Given the description of an element on the screen output the (x, y) to click on. 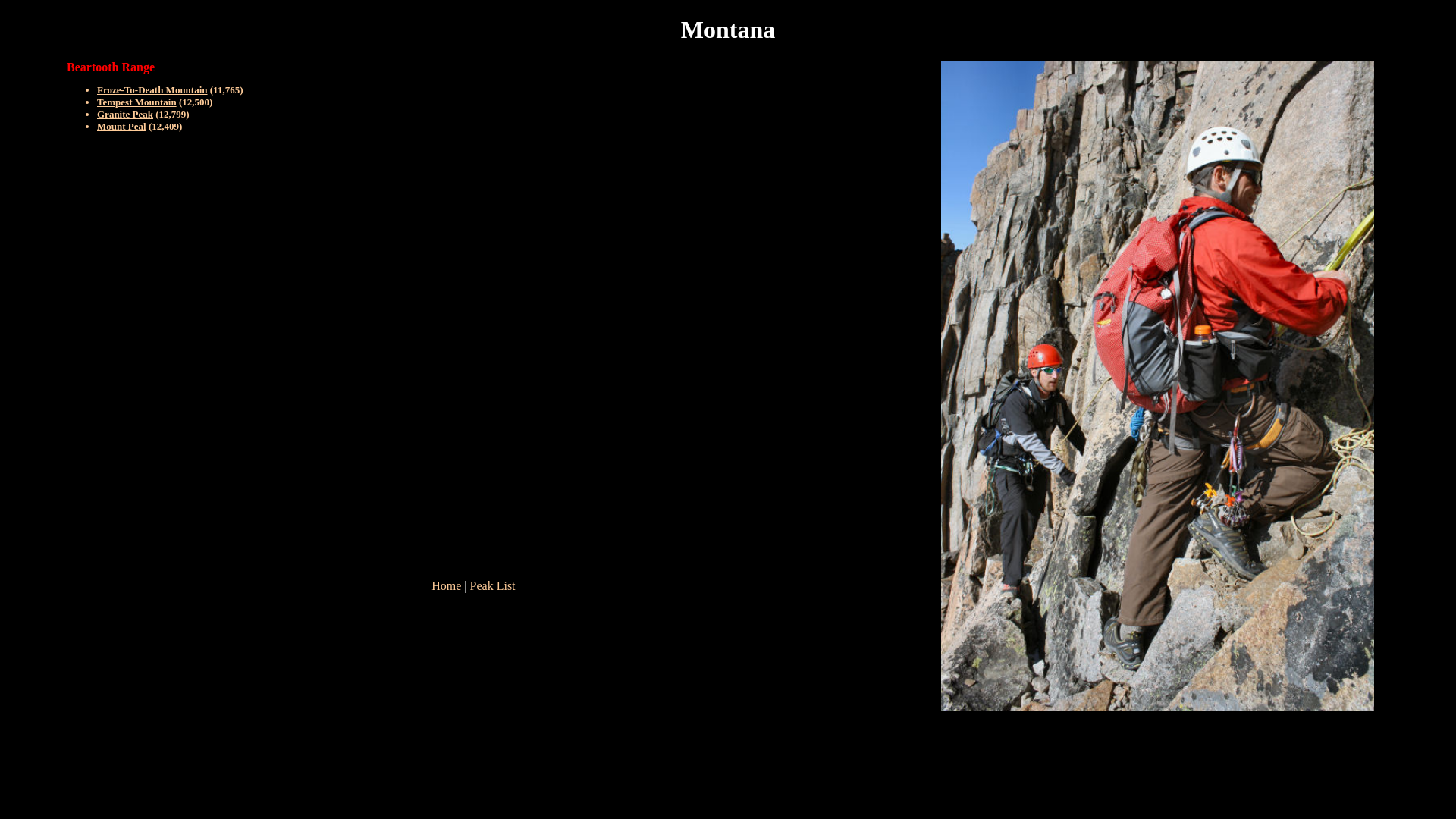
Peak List Element type: text (492, 585)
Froze-To-Death Mountain Element type: text (152, 89)
Home Element type: text (446, 585)
Granite Peak Element type: text (125, 113)
Tempest Mountain Element type: text (136, 101)
Mount Peal Element type: text (121, 125)
